Given the description of an element on the screen output the (x, y) to click on. 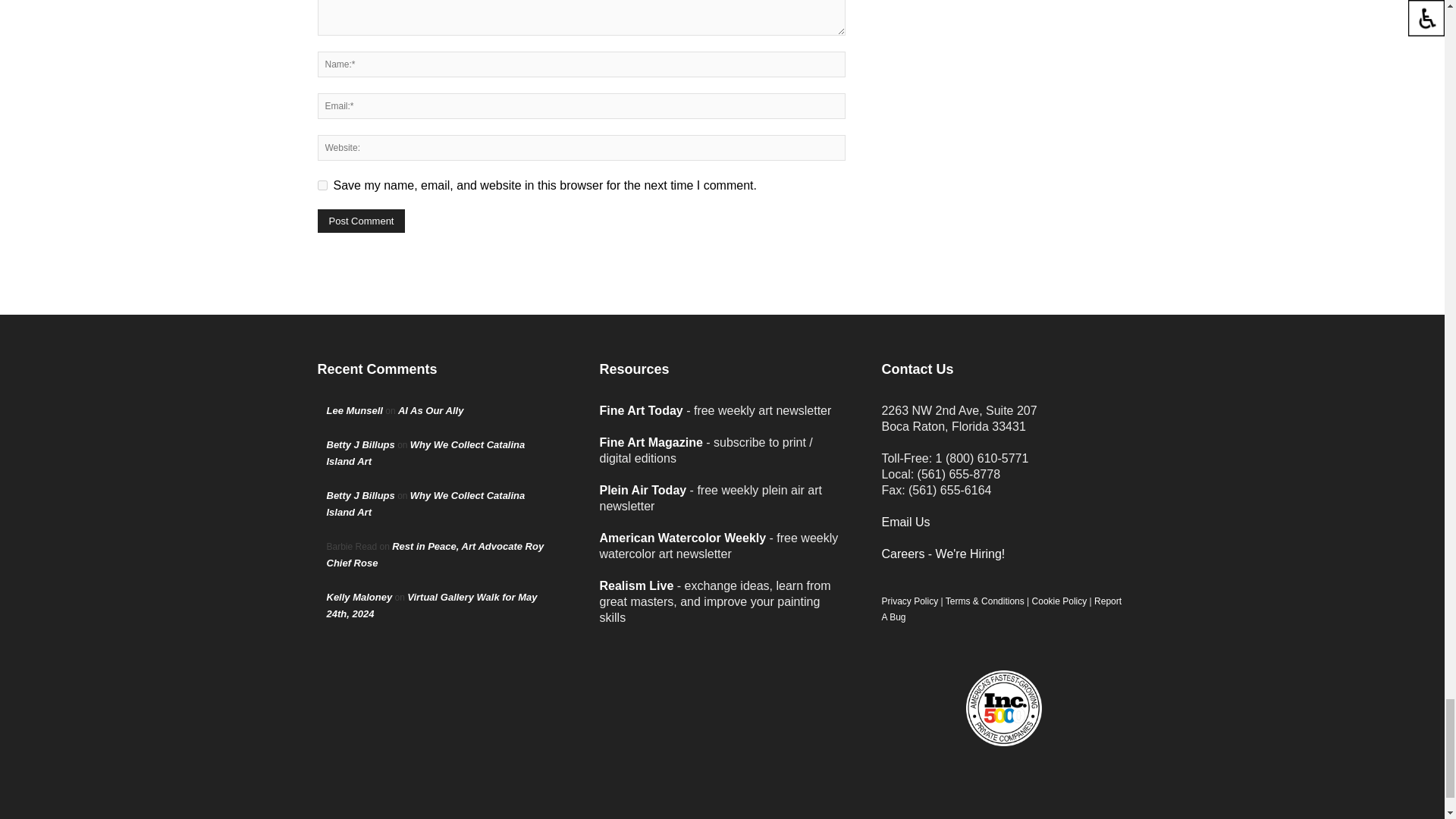
Post Comment (360, 220)
yes (321, 185)
